Given the description of an element on the screen output the (x, y) to click on. 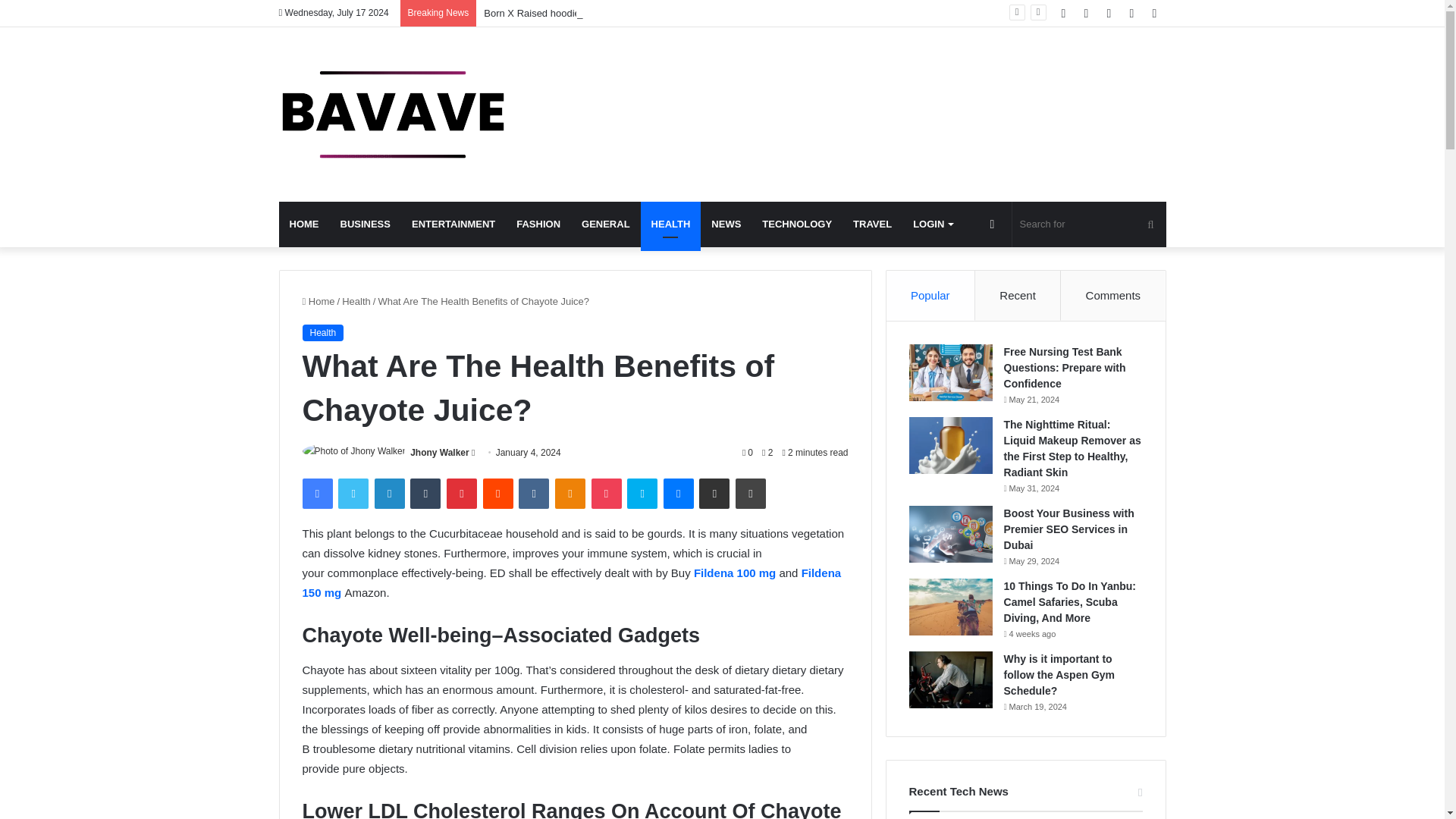
FASHION (537, 224)
Pocket (606, 493)
Twitter (352, 493)
Jhony Walker (439, 452)
VKontakte (533, 493)
Reddit (498, 493)
Messenger (678, 493)
GENERAL (605, 224)
LinkedIn (389, 493)
LinkedIn (389, 493)
ENTERTAINMENT (453, 224)
BUSINESS (364, 224)
HOME (304, 224)
LOGIN (932, 224)
HEALTH (670, 224)
